Given the description of an element on the screen output the (x, y) to click on. 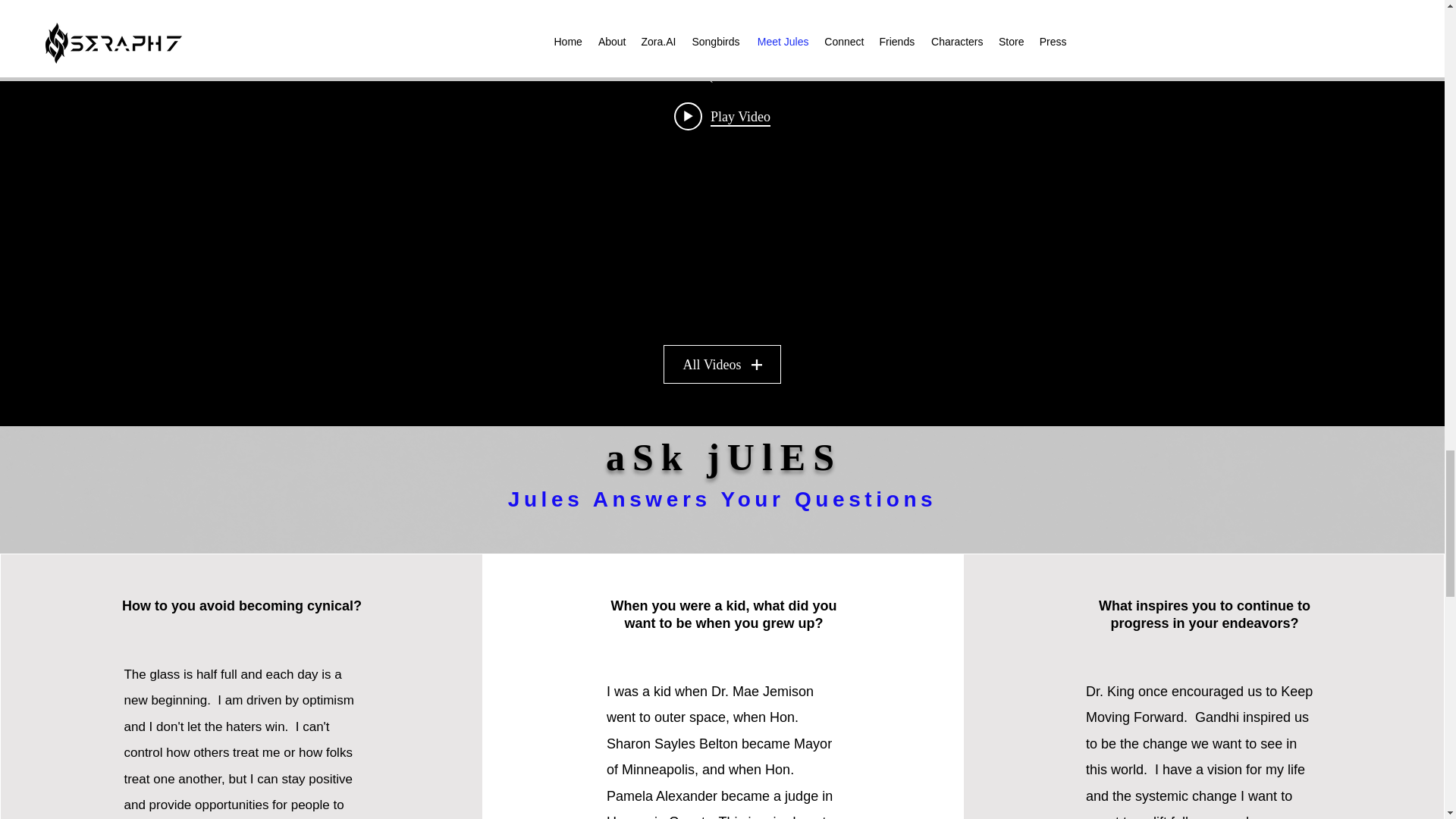
All Videos (721, 364)
Play Video (722, 115)
Jules Answers Questions from Students (721, 77)
